Given the description of an element on the screen output the (x, y) to click on. 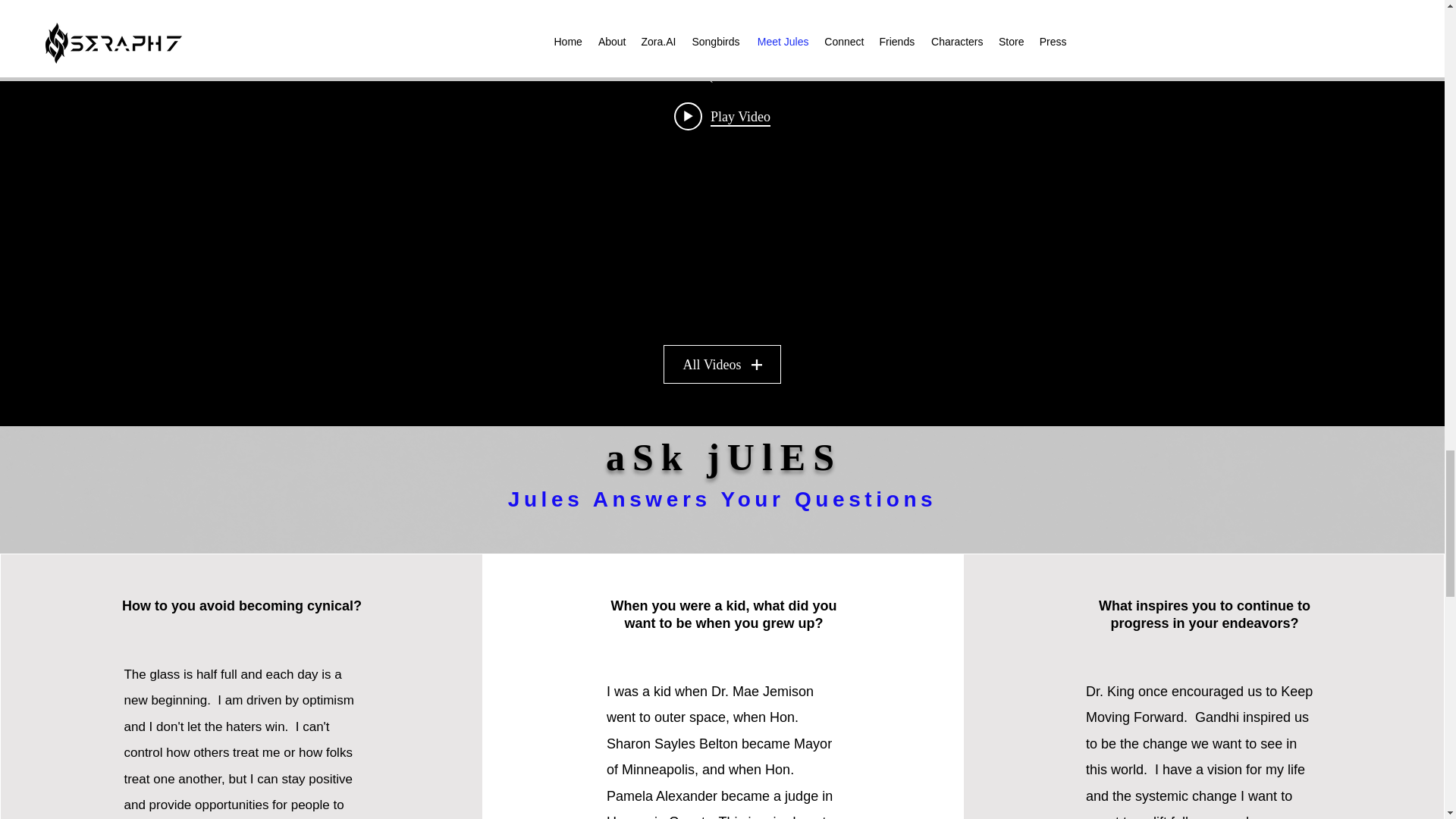
All Videos (721, 364)
Play Video (722, 115)
Jules Answers Questions from Students (721, 77)
